Given the description of an element on the screen output the (x, y) to click on. 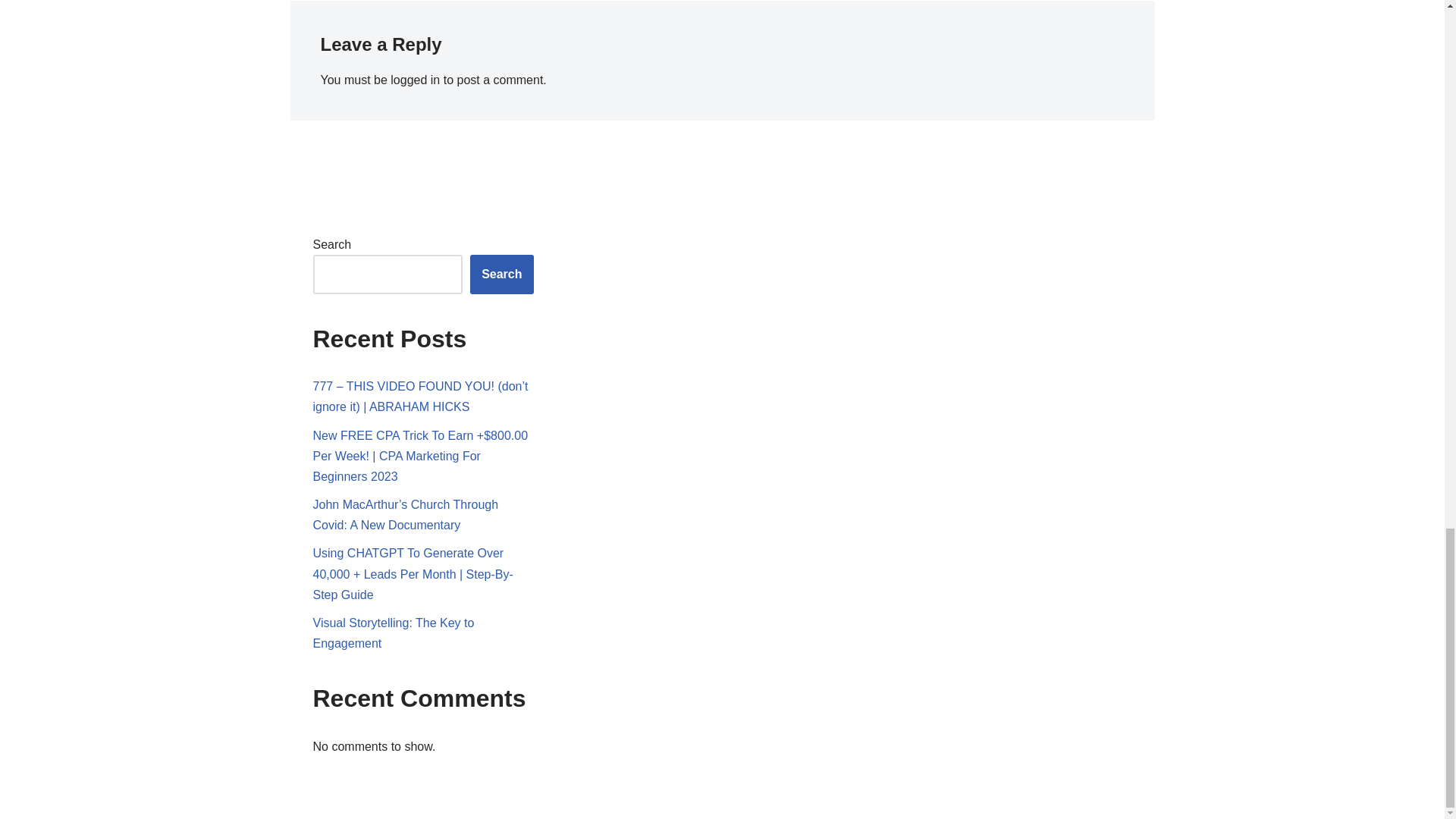
Search (501, 274)
Visual Storytelling: The Key to Engagement (393, 633)
logged in (414, 79)
